Given the description of an element on the screen output the (x, y) to click on. 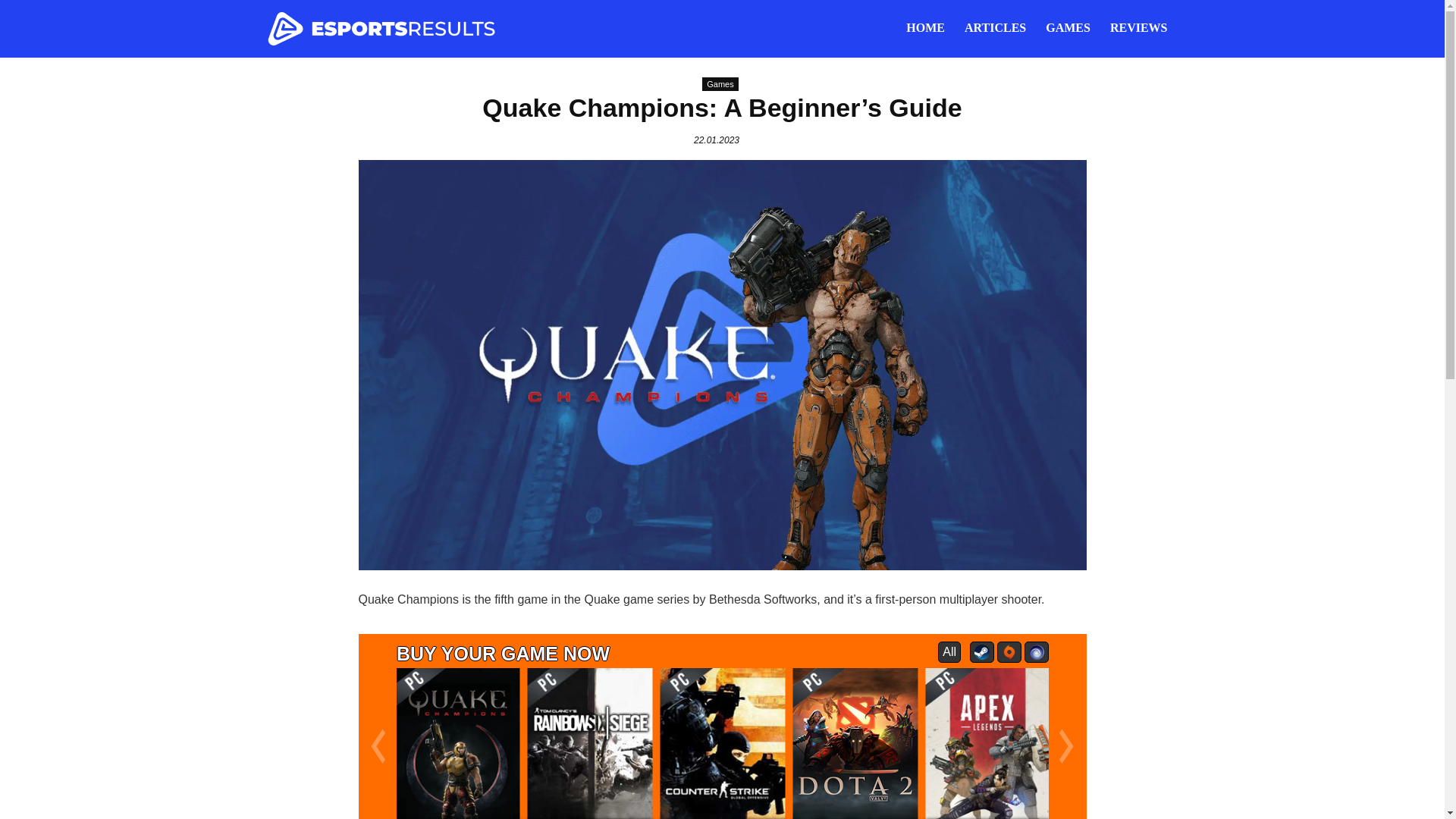
GAMES (1067, 28)
Games (719, 83)
View all posts in Games (719, 83)
HOME (925, 28)
REVIEWS (1138, 28)
ARTICLES (995, 28)
